Given the description of an element on the screen output the (x, y) to click on. 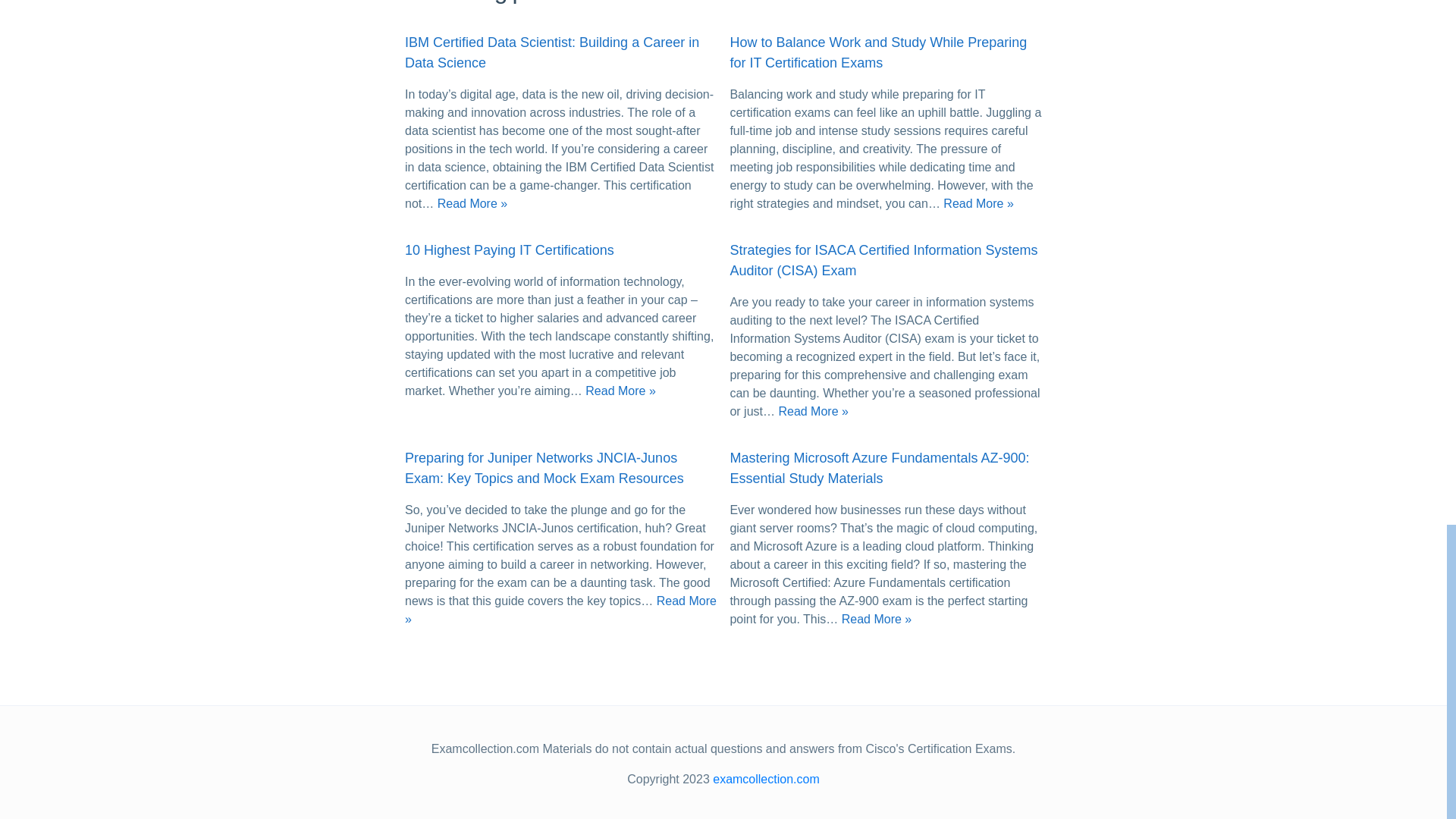
10 Highest Paying IT Certifications (509, 251)
10 Highest Paying IT Certifications (509, 251)
examcollection.com (766, 779)
